Given the description of an element on the screen output the (x, y) to click on. 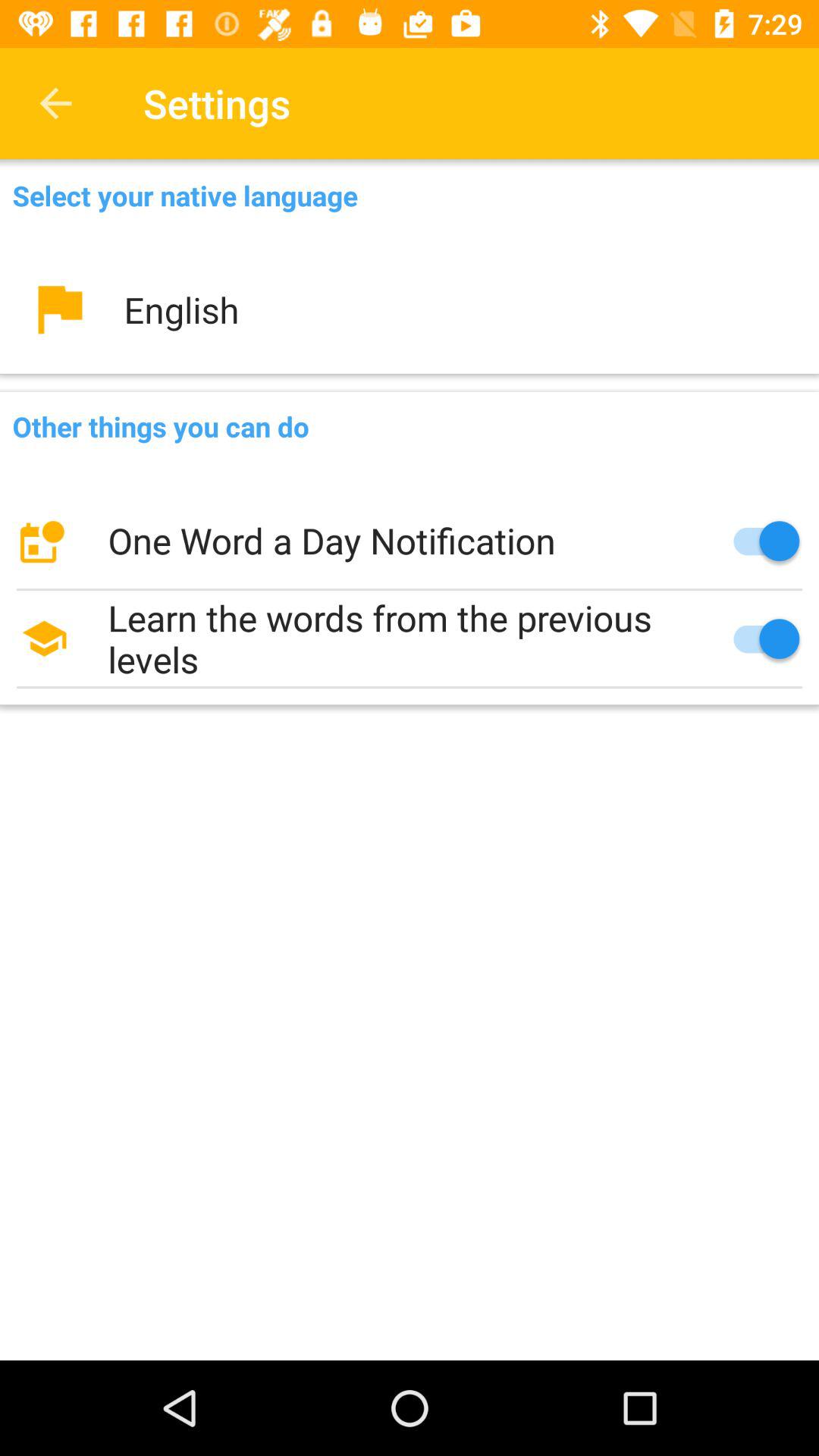
scroll until english icon (409, 309)
